Given the description of an element on the screen output the (x, y) to click on. 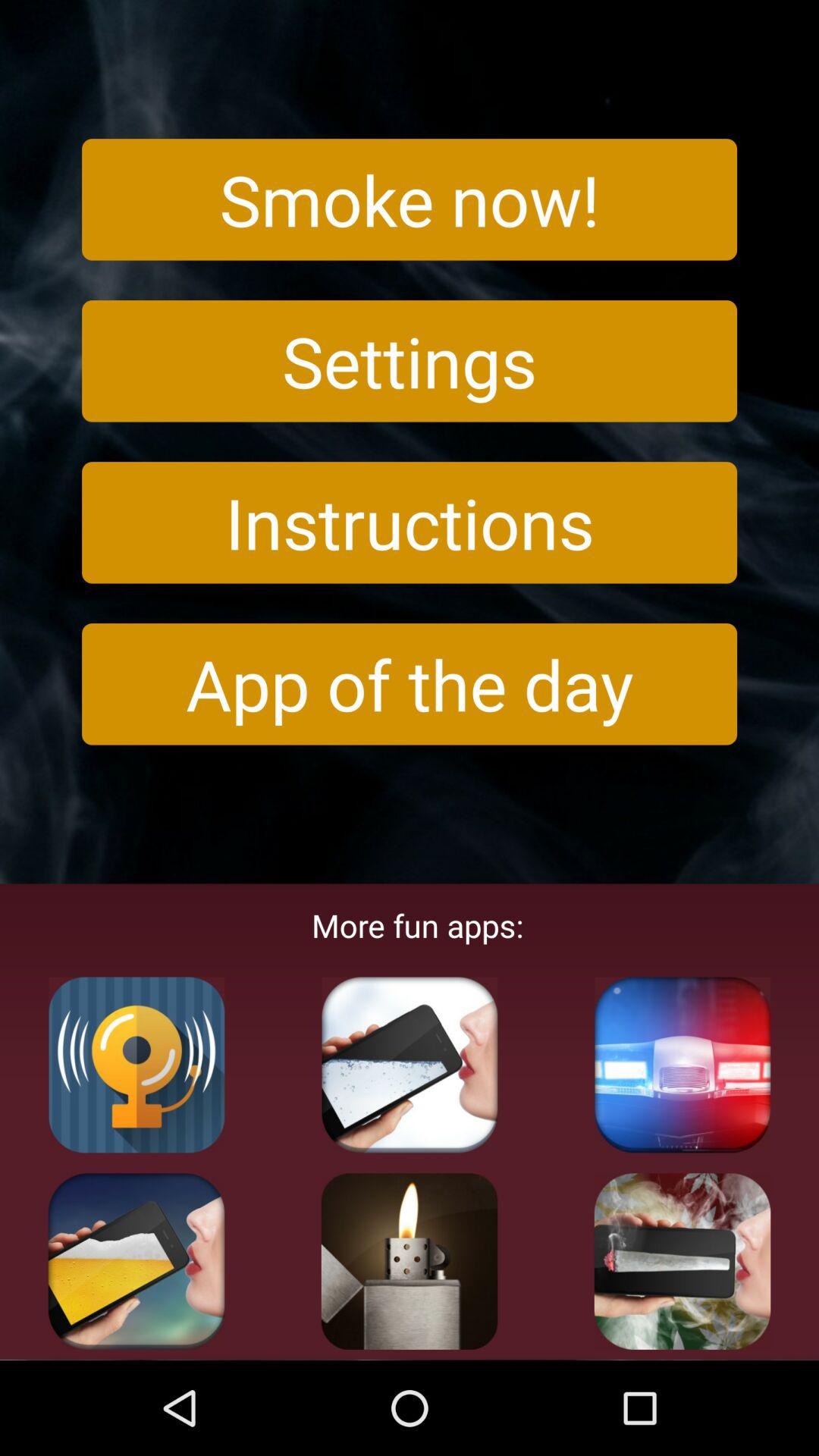
fun apps button (136, 1261)
